Given the description of an element on the screen output the (x, y) to click on. 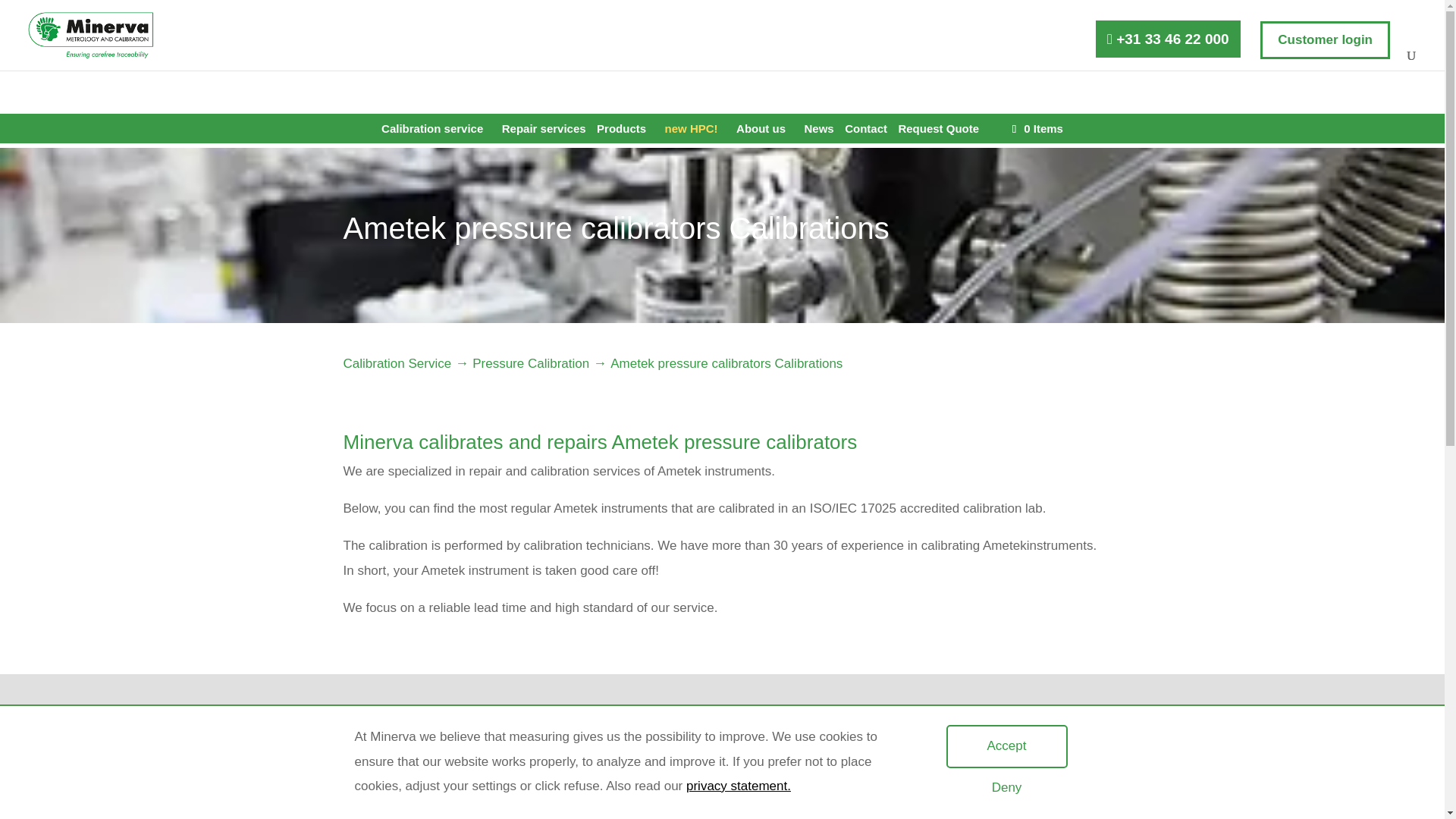
Repair services (544, 132)
Calibration service (435, 132)
Products (624, 132)
